Given the description of an element on the screen output the (x, y) to click on. 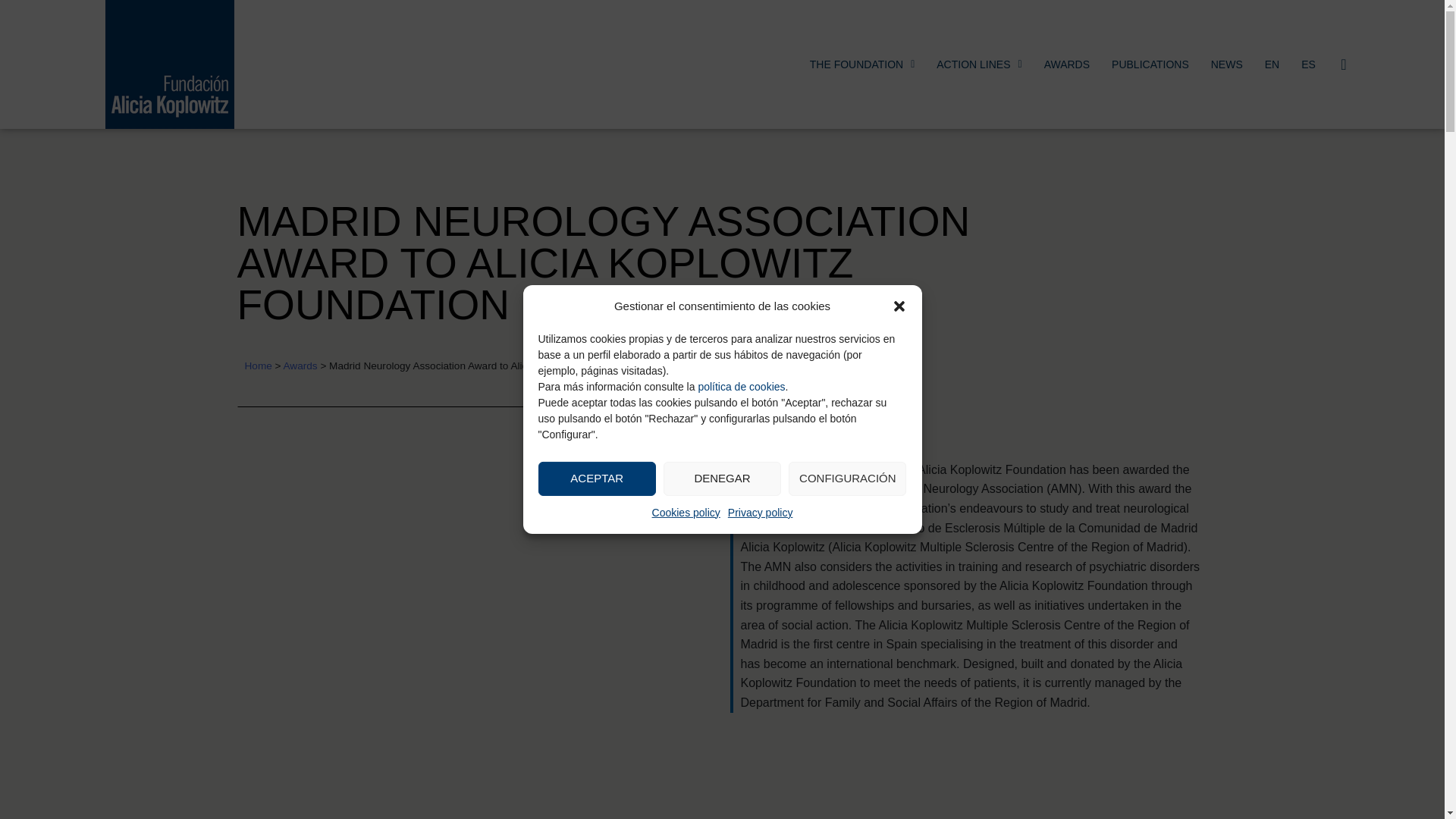
NEWS (1227, 63)
THE FOUNDATION (862, 63)
EN (1271, 63)
AWARDS (1067, 63)
Privacy policy (760, 513)
PUBLICATIONS (1150, 63)
Cookies policy (686, 513)
ES (1308, 63)
ACEPTAR (597, 478)
DENEGAR (721, 478)
EN (1271, 63)
ACTION LINES (978, 63)
ES (1308, 63)
